Given the description of an element on the screen output the (x, y) to click on. 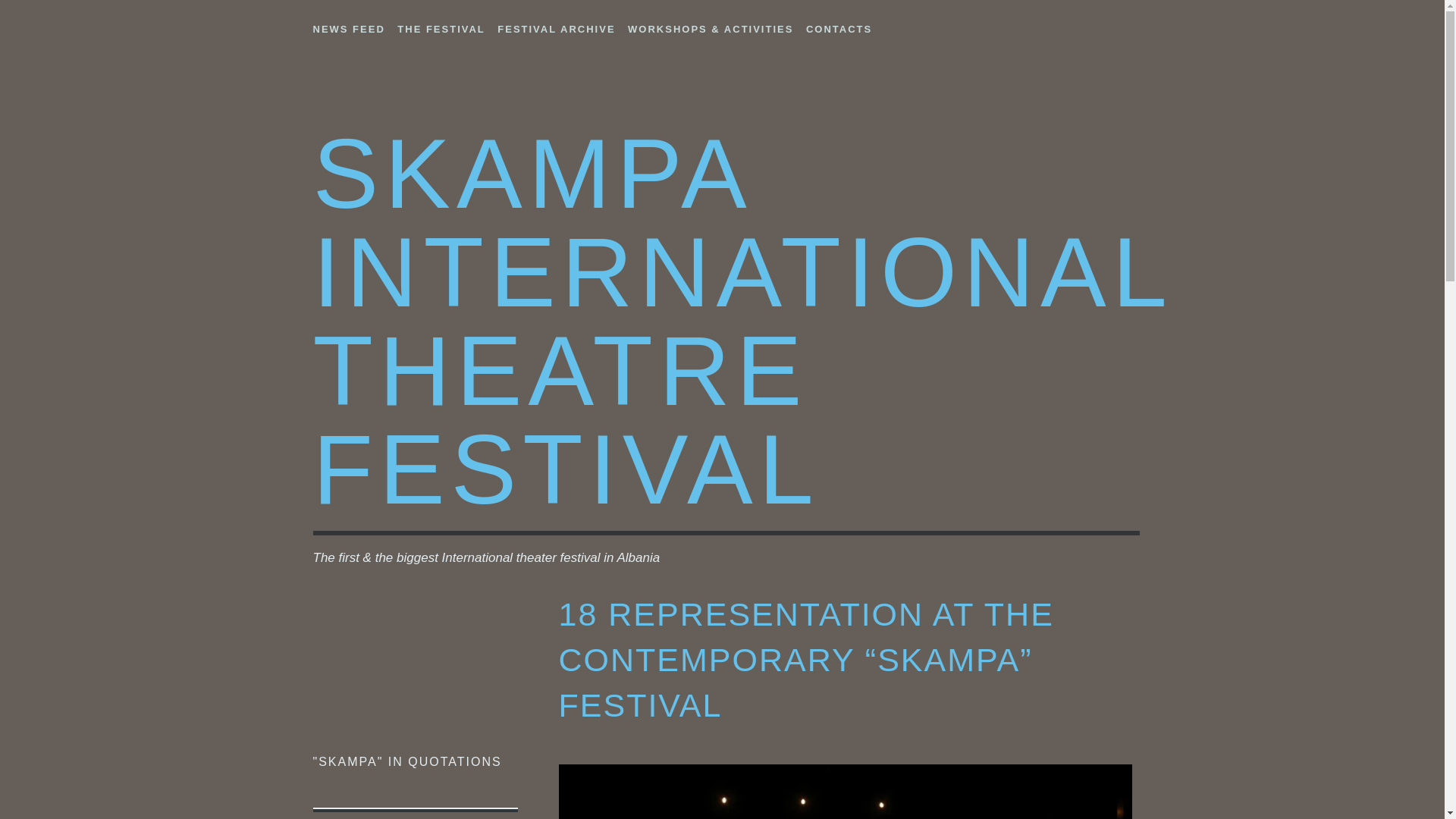
CONTACTS (839, 25)
THE FESTIVAL (440, 25)
NEWS FEED (348, 25)
FESTIVAL ARCHIVE (555, 25)
